Given the description of an element on the screen output the (x, y) to click on. 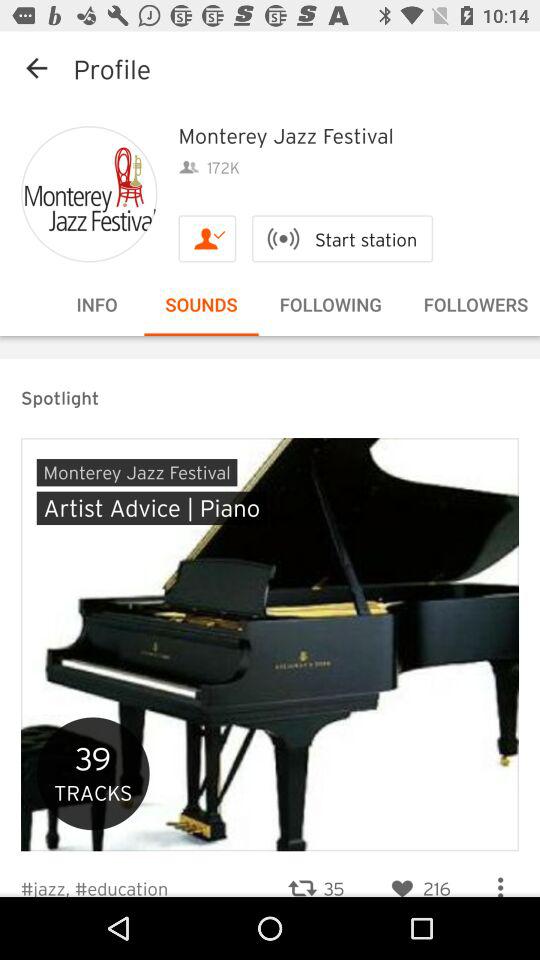
launch icon below monterey jazz festival (342, 238)
